Given the description of an element on the screen output the (x, y) to click on. 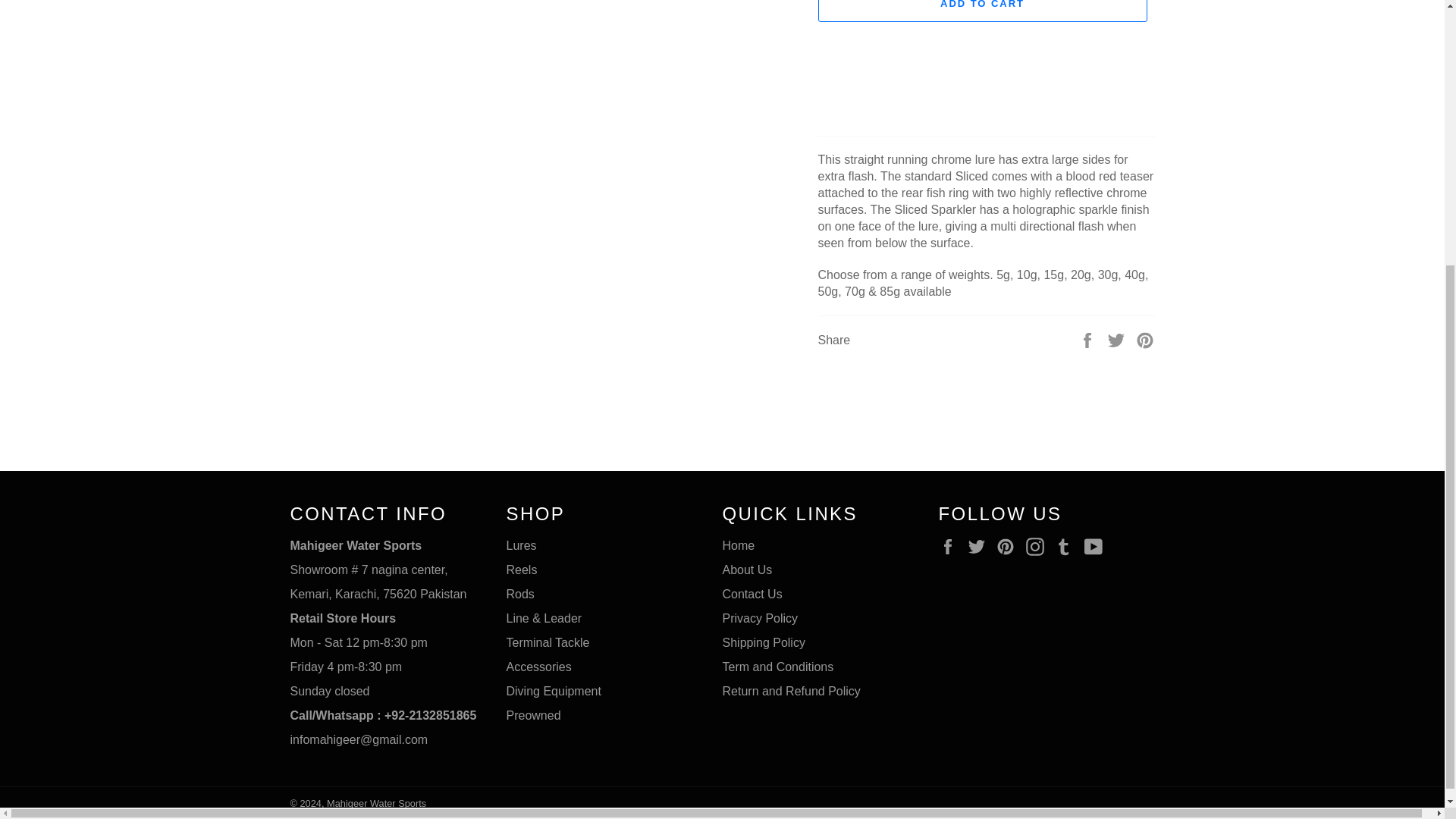
Privacy Policy (759, 617)
Refund Policy (791, 690)
Reels (521, 569)
Mahigeer Water Sports on Twitter (980, 546)
Terms of Service (777, 666)
Mahigeer Water Sports on Facebook (951, 546)
Terminal Tackle (547, 642)
Accessories (539, 666)
Whatsapp Mahigeer Water Sports (382, 715)
Pin on Pinterest (1144, 339)
Share on Facebook (1088, 339)
Rods (520, 594)
Tweet on Twitter (1117, 339)
Lures (521, 545)
Shipping Policy (763, 642)
